Given the description of an element on the screen output the (x, y) to click on. 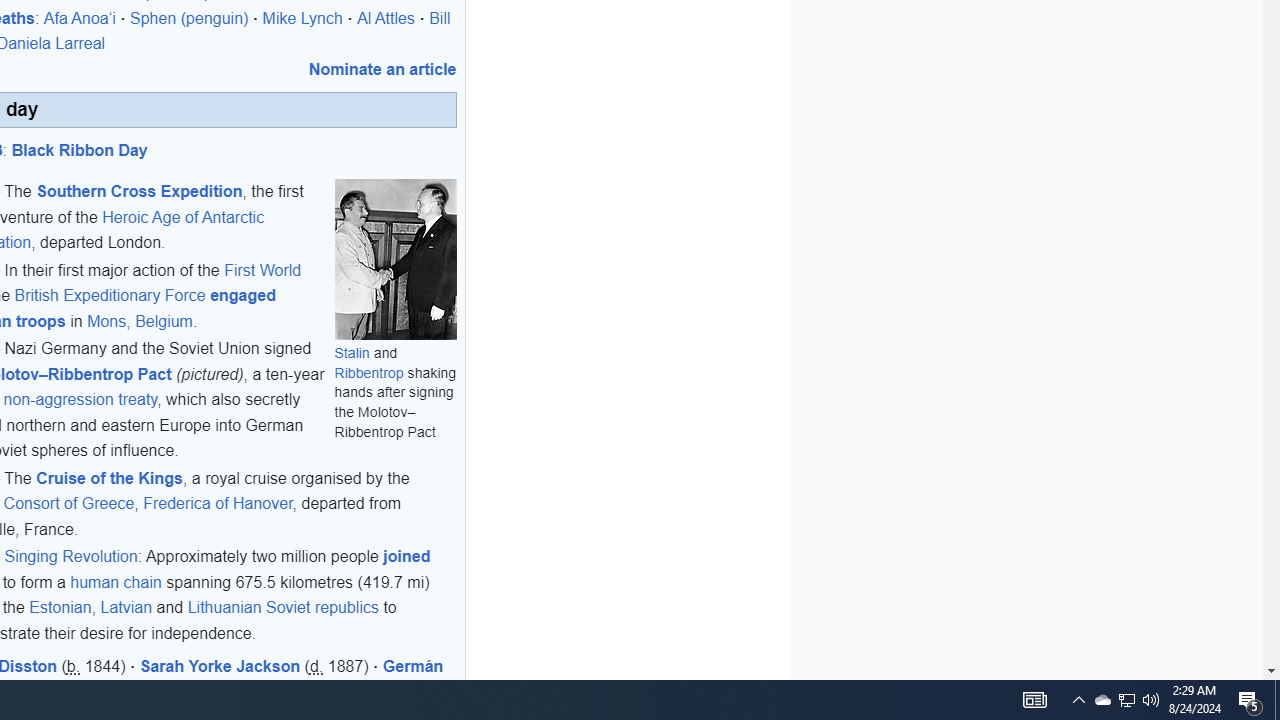
Al Attles (385, 17)
non-aggression treaty (79, 399)
Stalin (351, 352)
Nominate an article (382, 68)
Singing Revolution (70, 556)
Frederica of Hanover (218, 503)
Latvian (126, 608)
Black Ribbon Day (79, 150)
Mike Lynch (302, 17)
Cruise of the Kings (109, 477)
Mons, Belgium (140, 320)
Sphen (penguin) (189, 17)
Ribbentrop (369, 372)
